Given the description of an element on the screen output the (x, y) to click on. 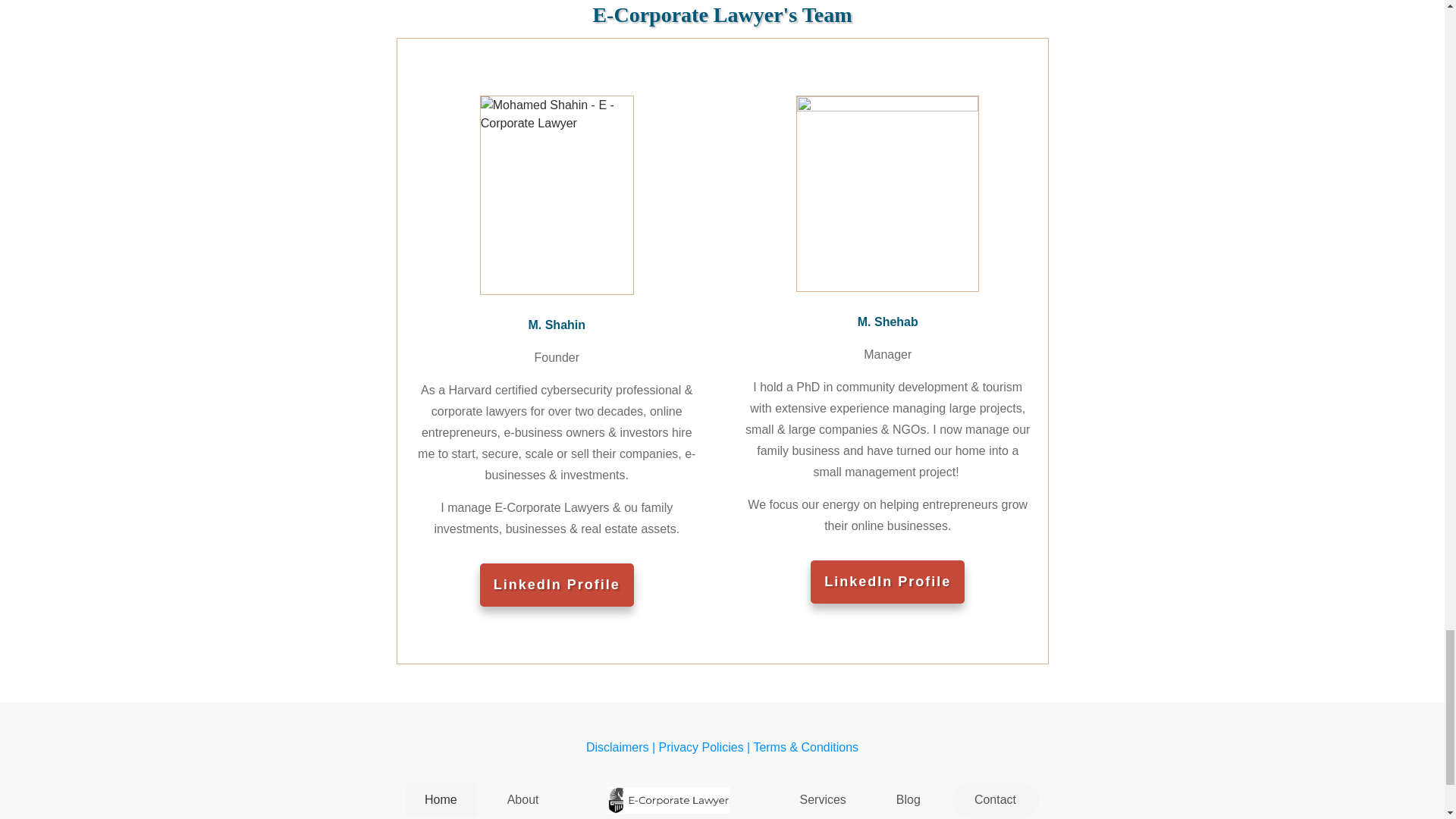
Contact (995, 799)
Services (822, 800)
Blog (908, 800)
About (522, 800)
LinkedIn Profile (556, 585)
Screen Shot 2018 10 14 at 00.44.19 (887, 193)
LinkedIn Profile (886, 582)
Home (441, 800)
